Given the description of an element on the screen output the (x, y) to click on. 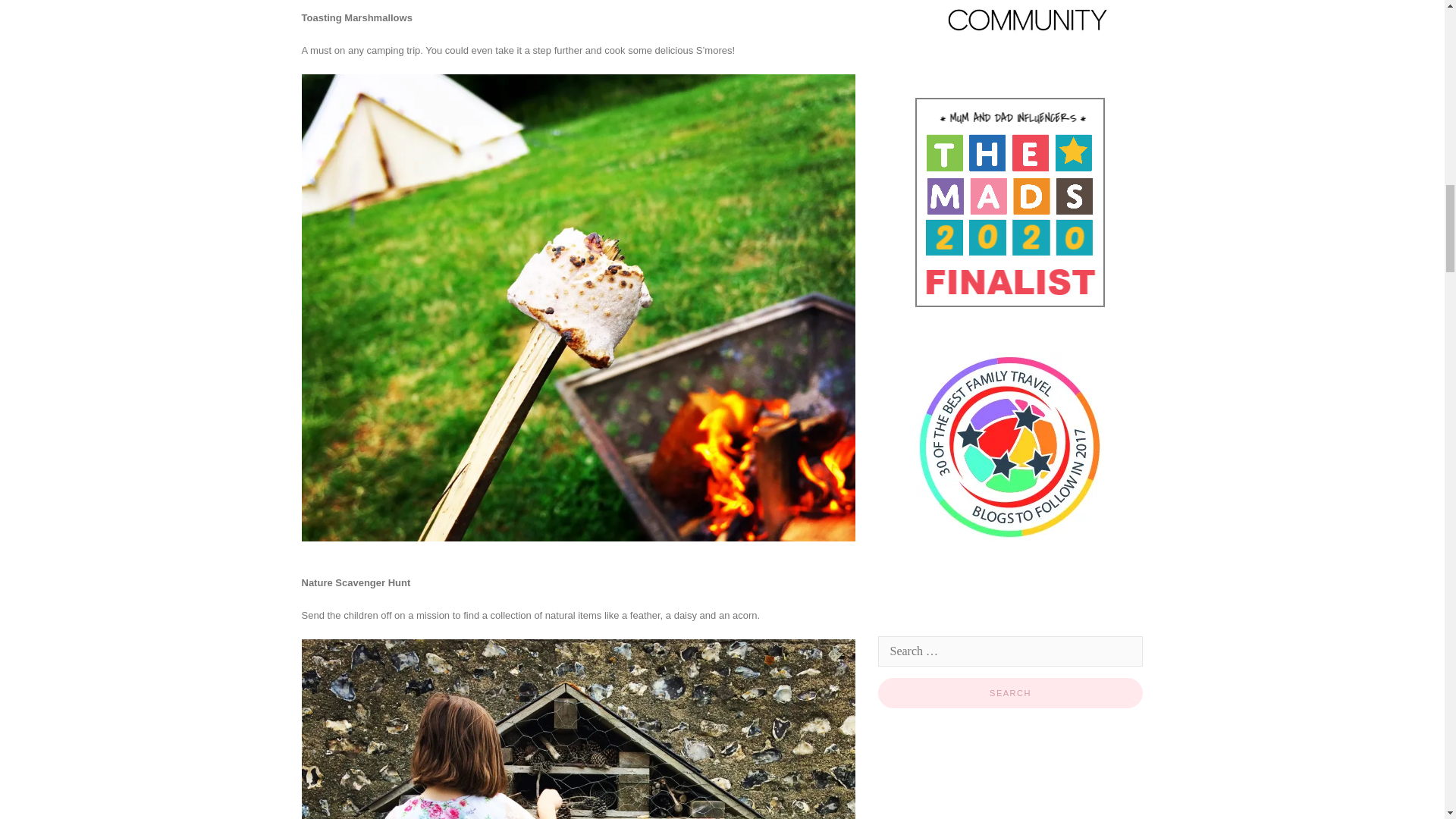
Search (1009, 693)
Search (1009, 693)
Search (1009, 693)
